Given the description of an element on the screen output the (x, y) to click on. 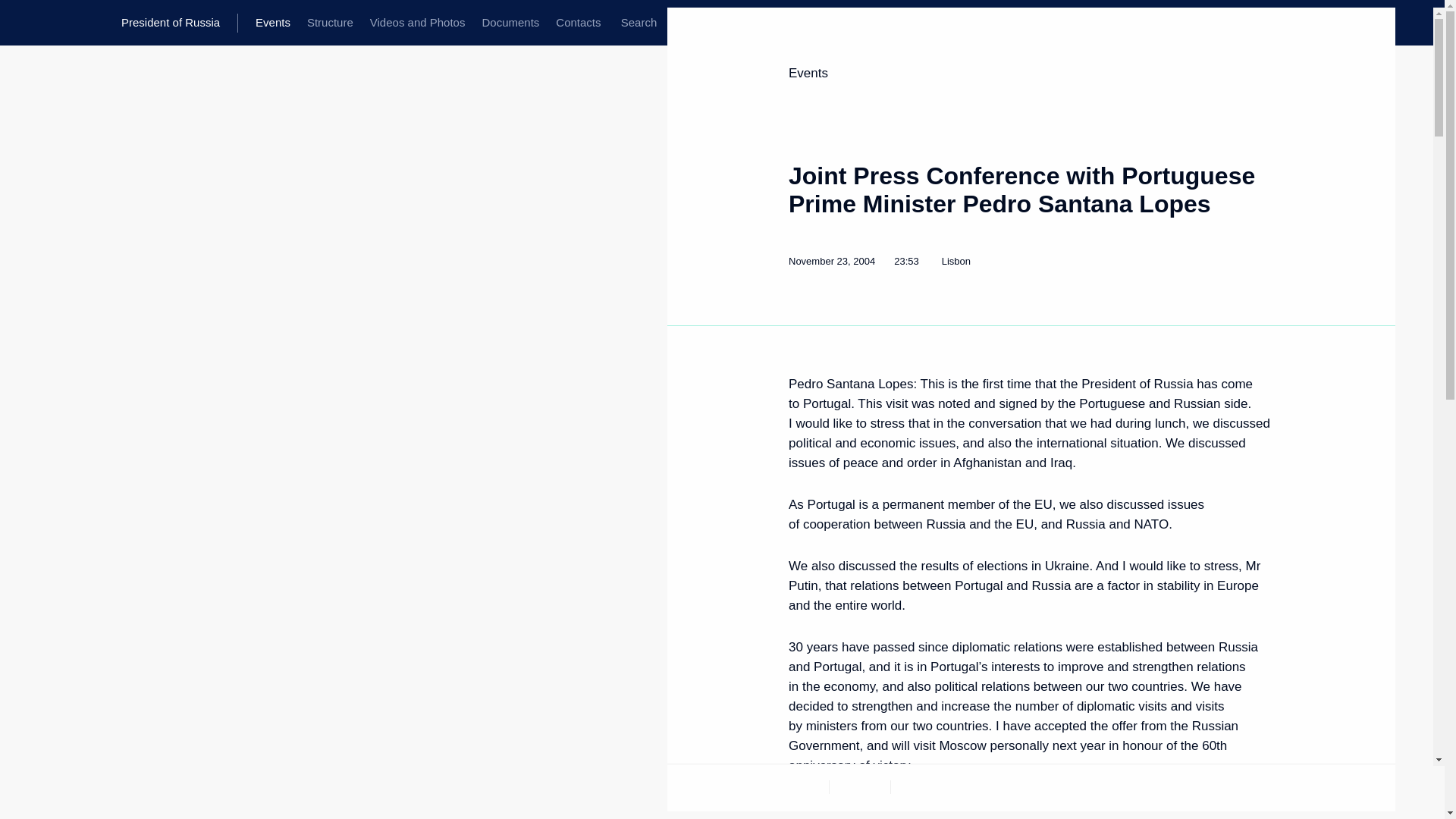
Portal Menu (24, 22)
Photos (859, 786)
Documents (510, 22)
President of Russia (179, 22)
Events (808, 73)
Global website search (638, 22)
Search (638, 22)
Events (272, 22)
Contacts (577, 22)
Videos and Photos (417, 22)
Structure (329, 22)
Text (798, 786)
Share (1253, 784)
Video (921, 786)
